Given the description of an element on the screen output the (x, y) to click on. 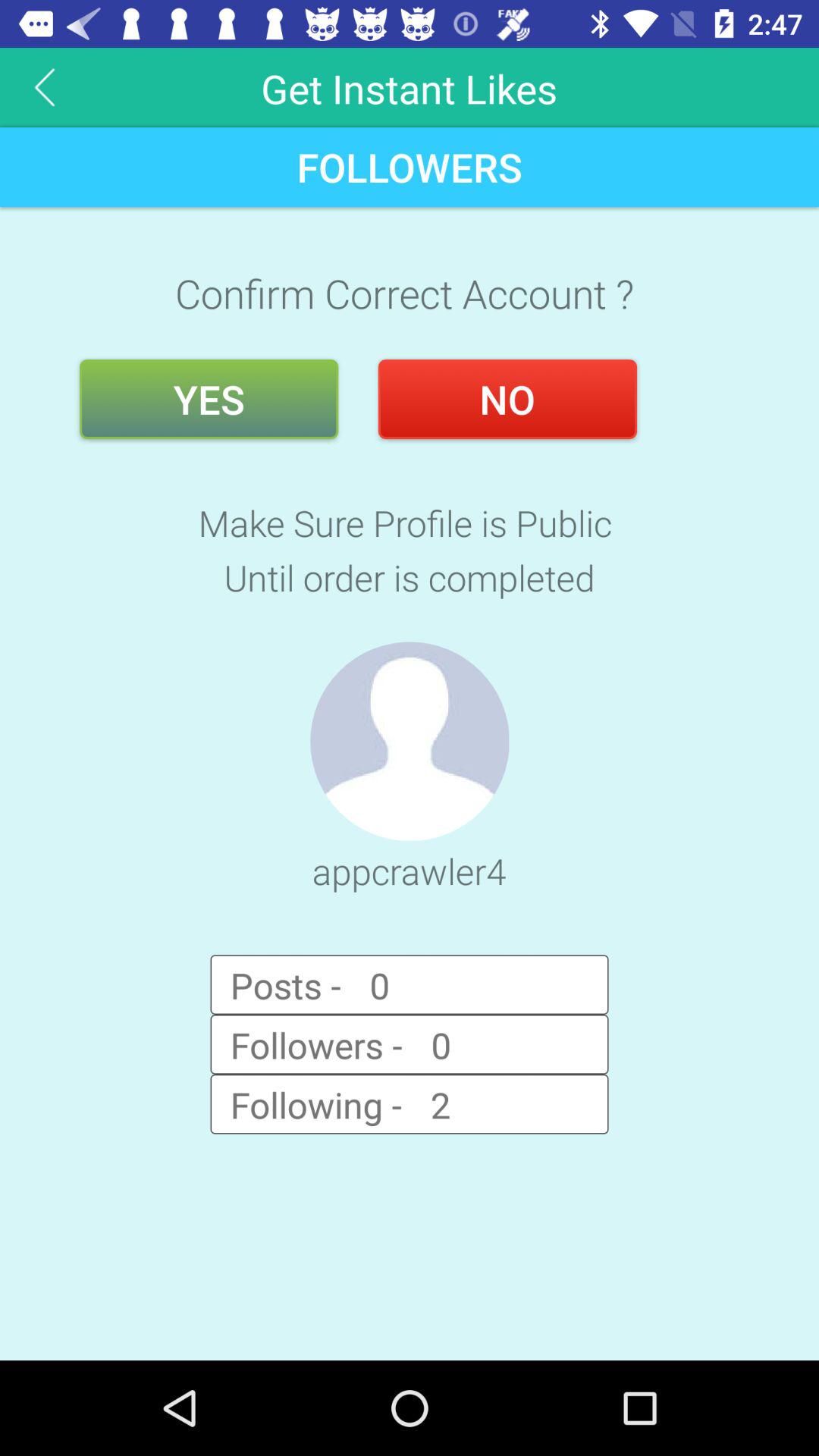
choose the no (507, 399)
